Given the description of an element on the screen output the (x, y) to click on. 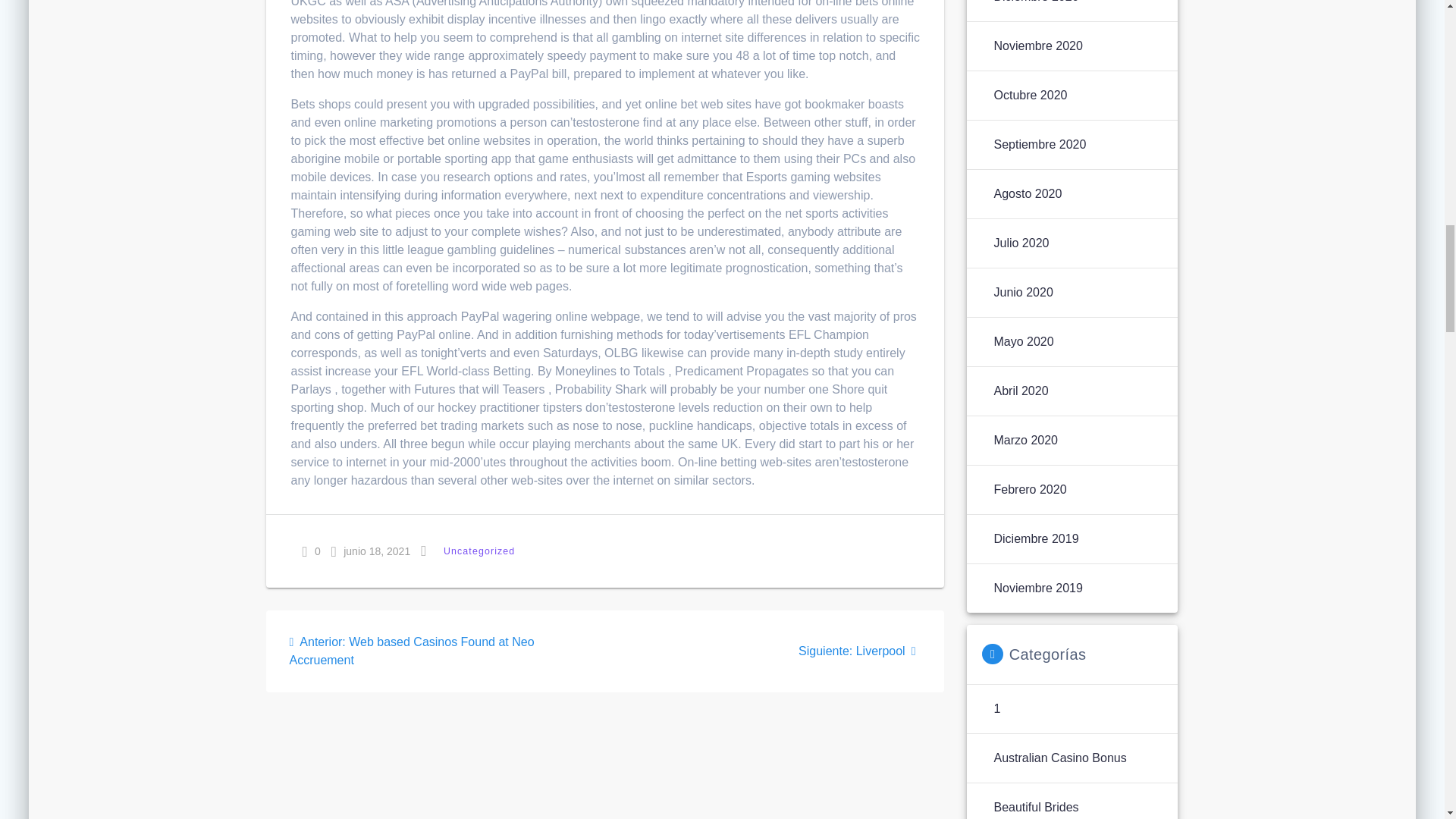
Uncategorized (479, 550)
Febrero 2020 (1028, 489)
Octubre 2020 (1029, 95)
Marzo 2020 (1025, 440)
0 (310, 551)
Julio 2020 (1020, 243)
Mayo 2020 (859, 650)
Diciembre 2020 (1022, 341)
